Given the description of an element on the screen output the (x, y) to click on. 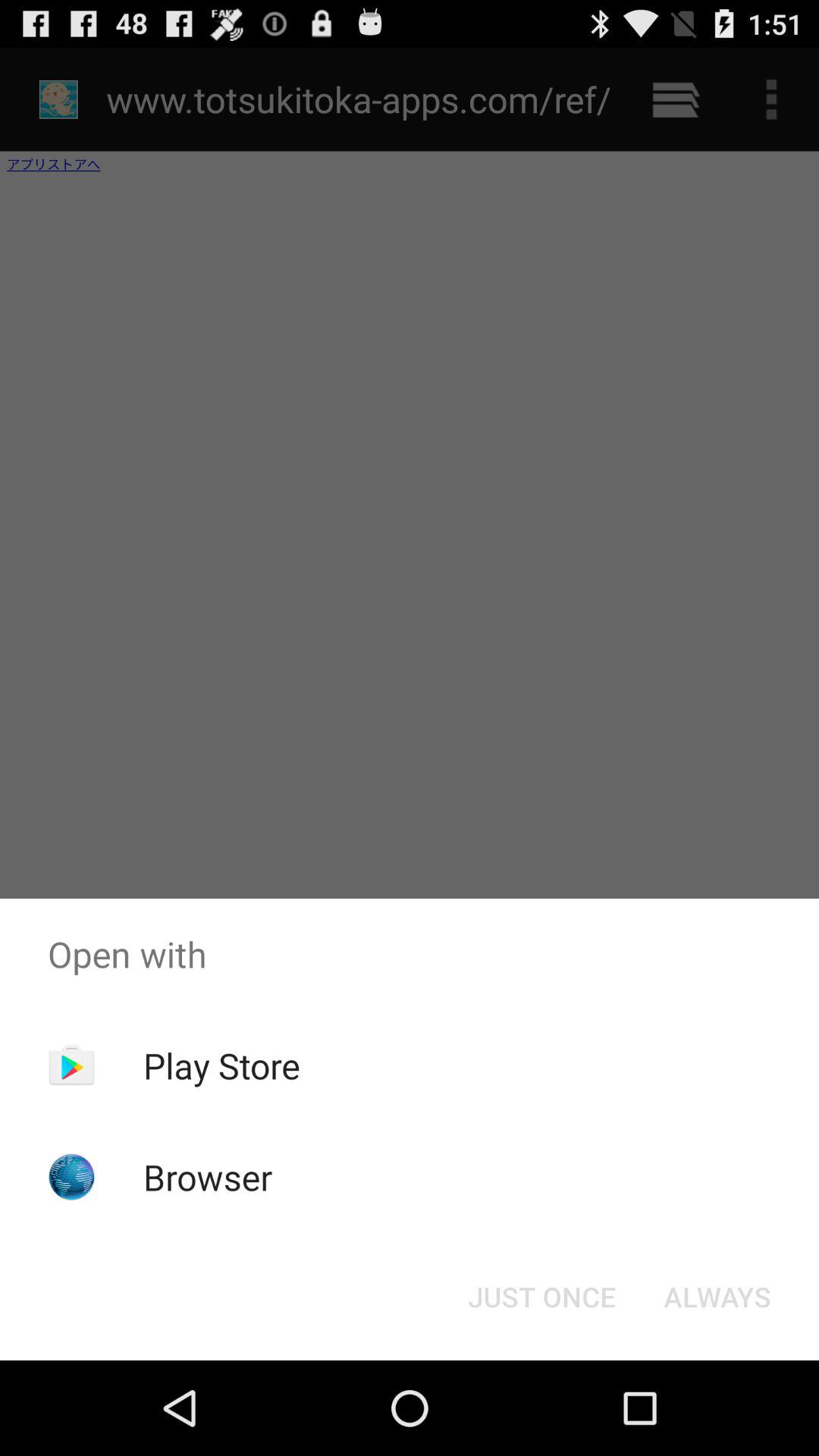
swipe until play store app (221, 1065)
